Given the description of an element on the screen output the (x, y) to click on. 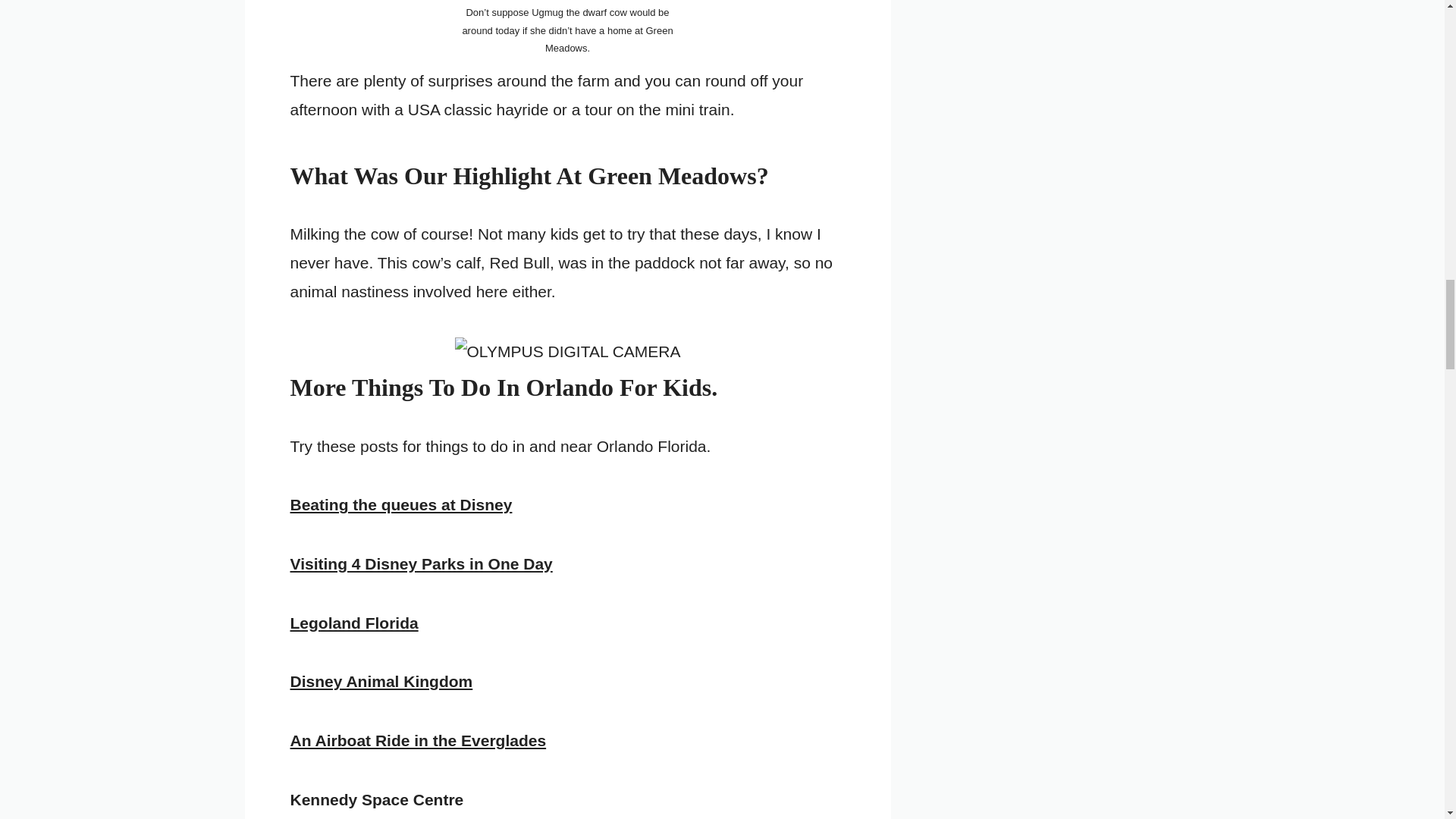
Visiting 4 Disney Parks in One Day (420, 563)
Disney Animal Kingdom (380, 681)
Legoland Florida (353, 622)
Visiting Four Disney Parks in One Day (420, 563)
An Airboat Ride in the Everglades (417, 740)
Should You Visit Legoland Florida While in Orlando? (353, 622)
Beating the queues at Disney (400, 504)
Beating The Queues At Disney. Orlando Florida. (400, 504)
